Given the description of an element on the screen output the (x, y) to click on. 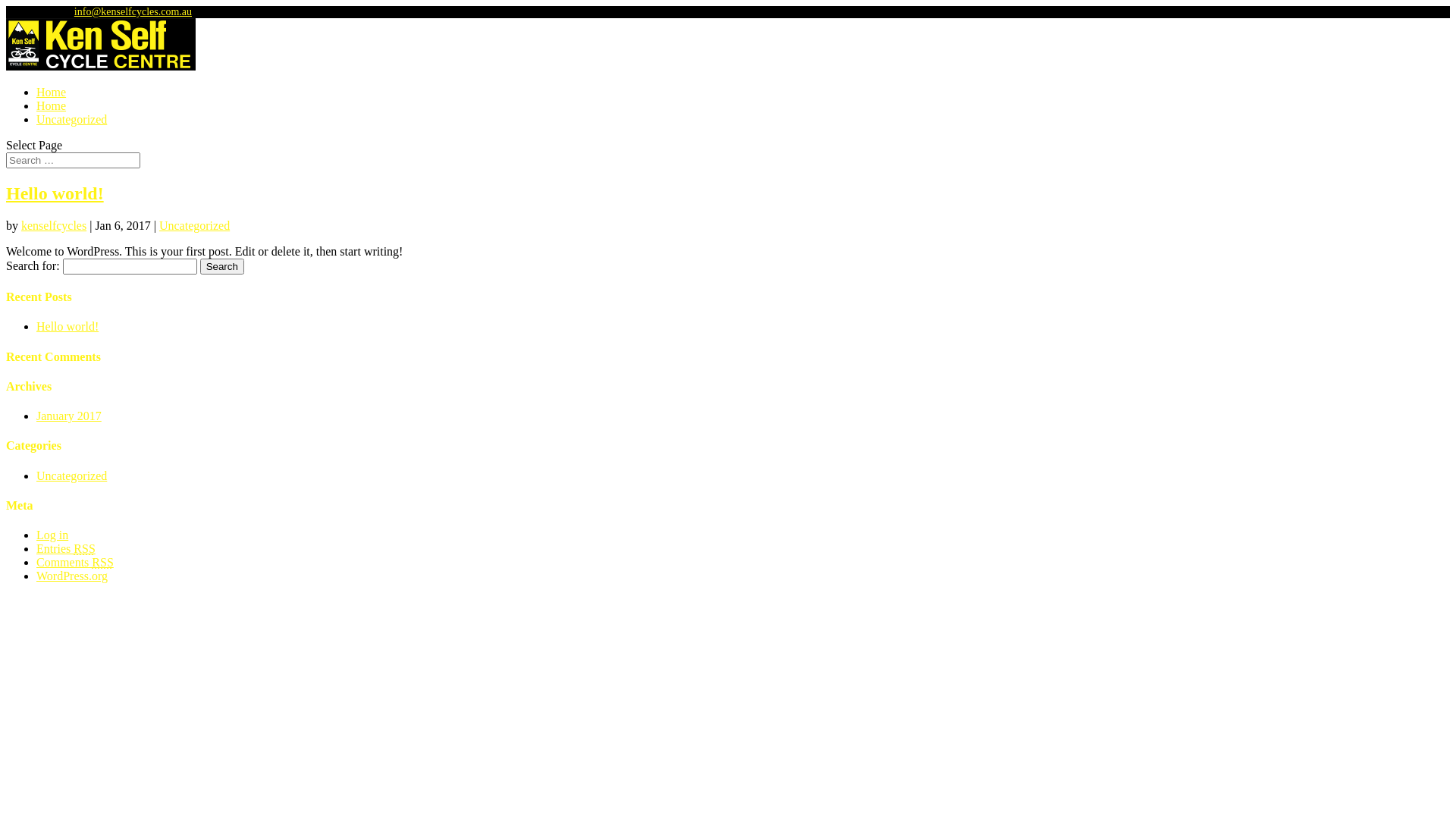
Search for: Element type: hover (73, 160)
Entries RSS Element type: text (65, 548)
January 2017 Element type: text (68, 415)
Uncategorized Element type: text (71, 118)
Search Element type: text (222, 266)
info@kenselfcycles.com.au Element type: text (132, 11)
Uncategorized Element type: text (71, 475)
Hello world! Element type: text (67, 326)
Home Element type: text (50, 105)
kenselfcycles Element type: text (53, 225)
Home Element type: text (50, 91)
WordPress.org Element type: text (71, 575)
Log in Element type: text (52, 534)
Hello world! Element type: text (54, 193)
Comments RSS Element type: text (74, 561)
Uncategorized Element type: text (194, 225)
